Given the description of an element on the screen output the (x, y) to click on. 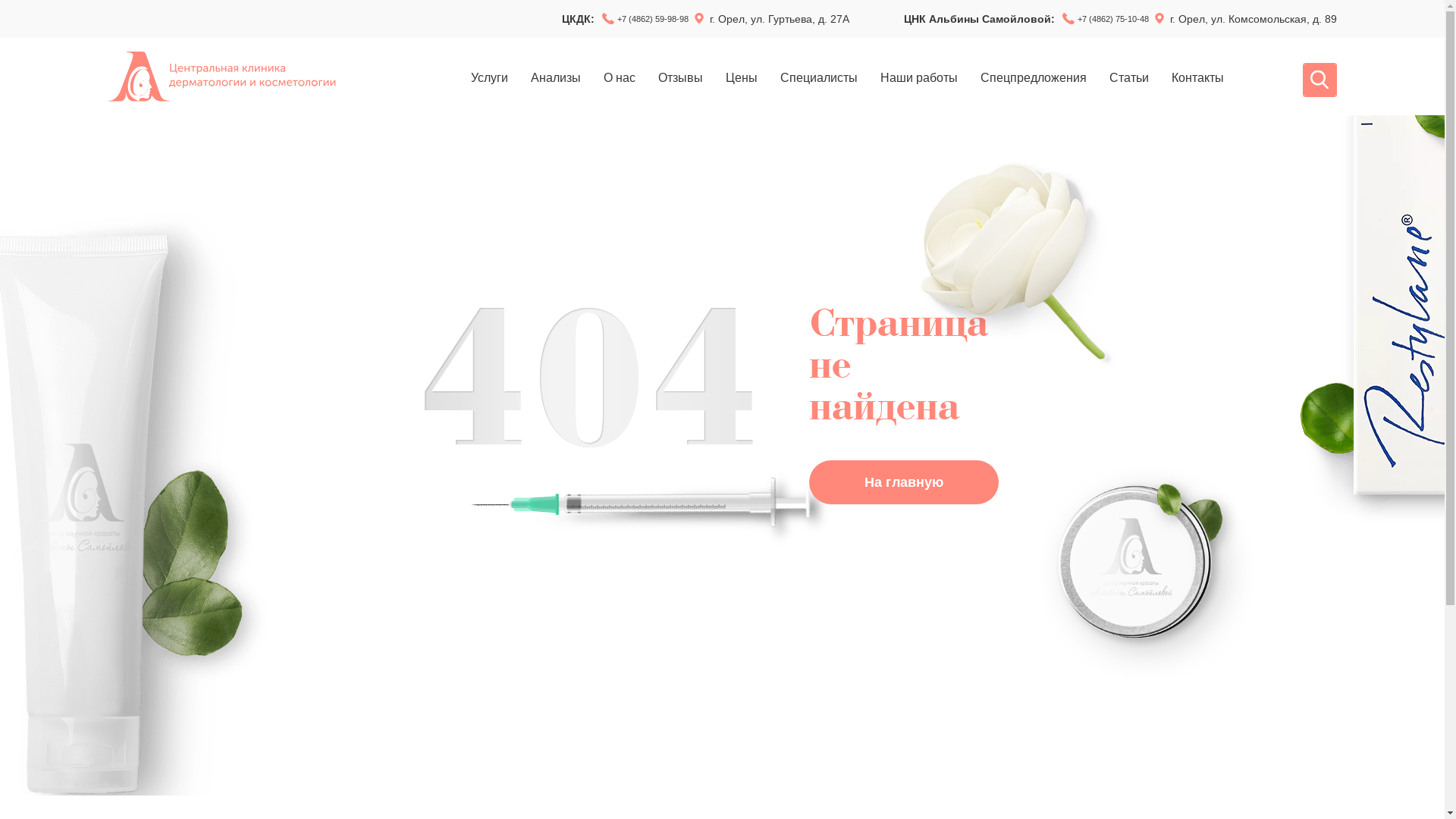
+7 (4862) 59-98-98 Element type: text (652, 18)
+7 (4862) 75-10-48 Element type: text (1112, 18)
